Given the description of an element on the screen output the (x, y) to click on. 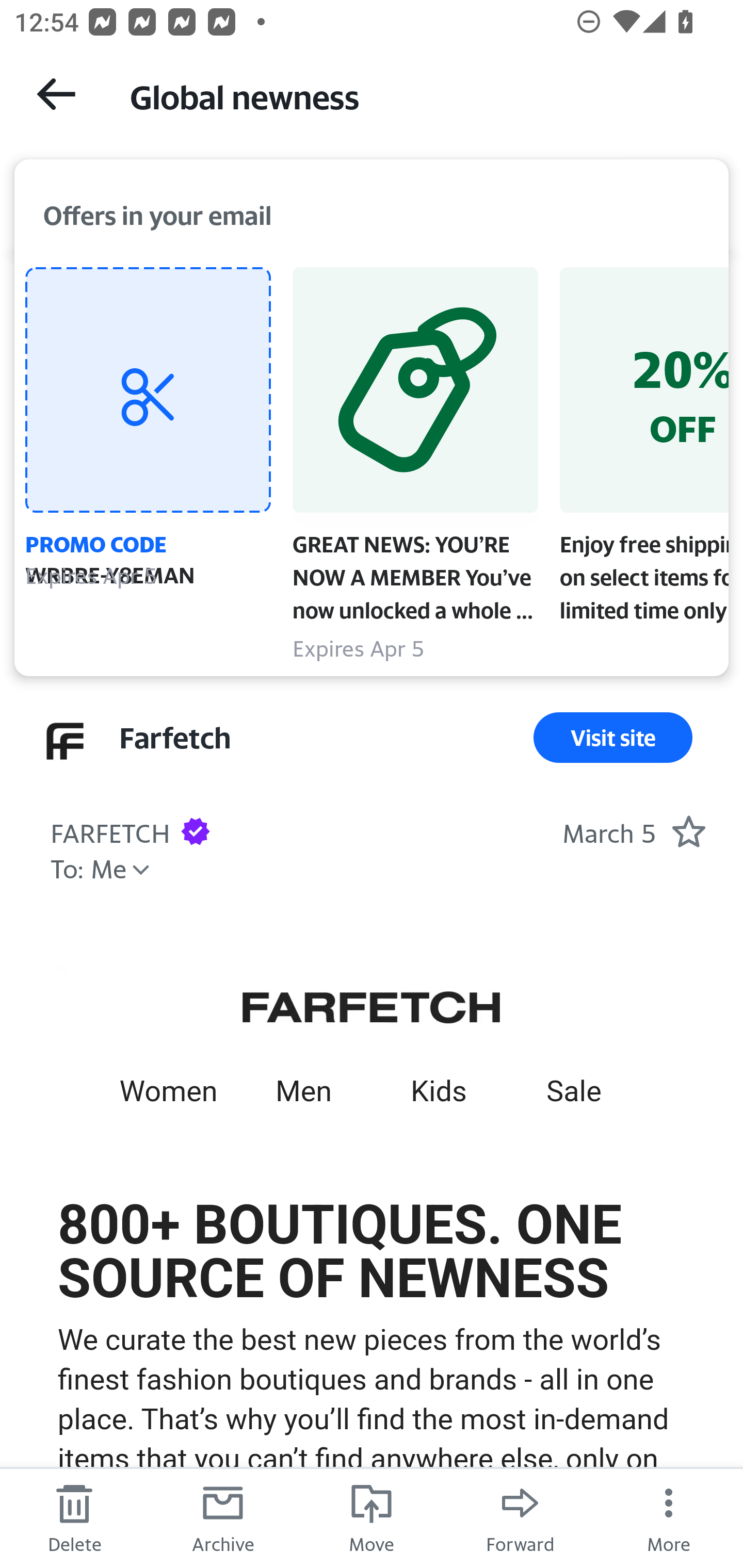
Back (55, 93)
Global newness (418, 94)
View all messages from sender (64, 740)
Visit site Visit Site Link (612, 737)
Farfetch Sender Farfetch (174, 737)
FARFETCH Sender FARFETCH (110, 830)
Mark as starred. (688, 831)
FARFETCH logo (371, 1007)
Women (167, 1092)
Men (303, 1092)
Kids (438, 1092)
Sale (573, 1092)
Delete (74, 1517)
Archive (222, 1517)
Move (371, 1517)
Forward (519, 1517)
More (668, 1517)
